Given the description of an element on the screen output the (x, y) to click on. 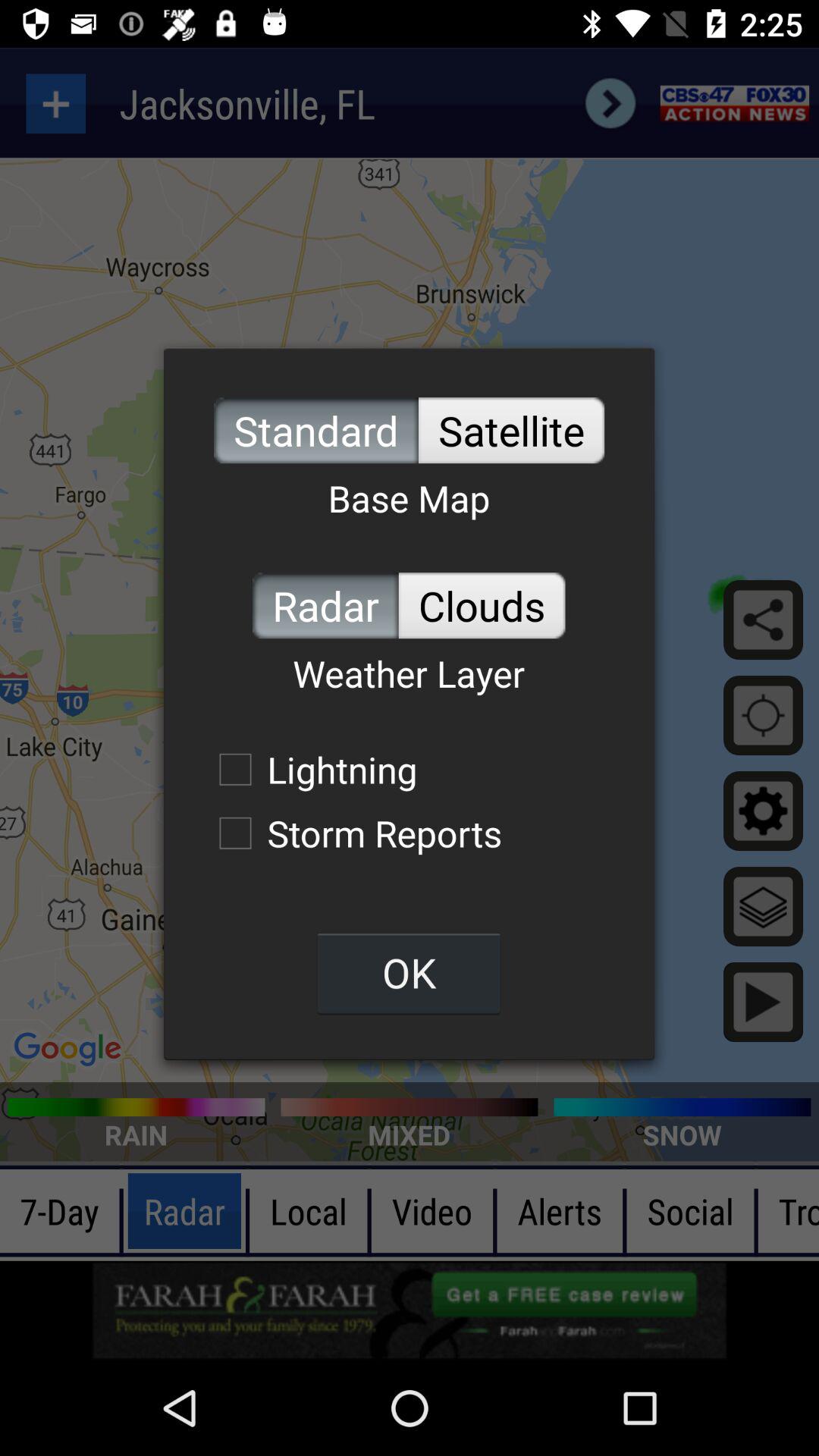
flip until clouds icon (481, 605)
